Given the description of an element on the screen output the (x, y) to click on. 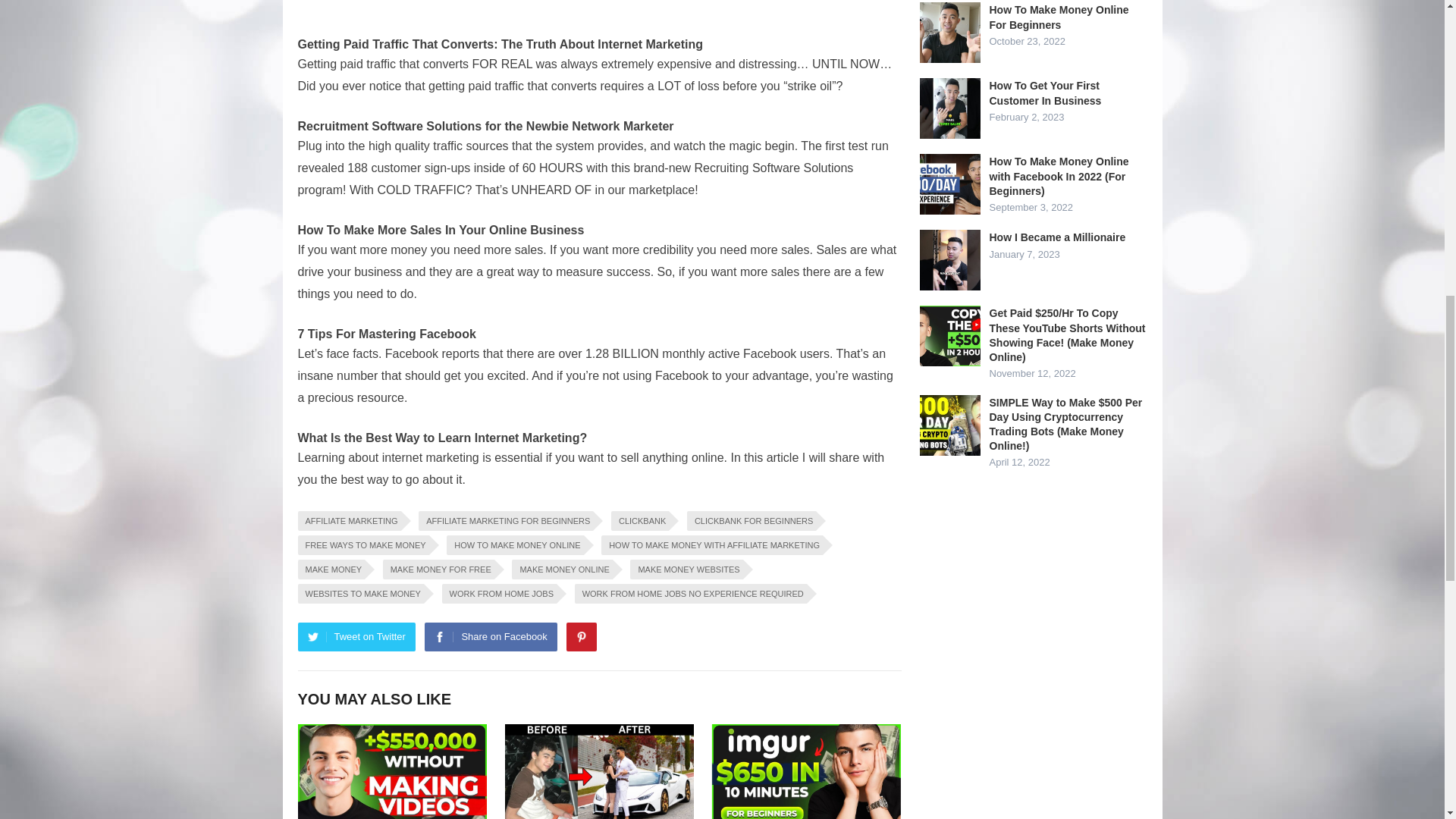
HOW TO MAKE MONEY ONLINE (514, 545)
MAKE MONEY FOR FREE (438, 569)
WEBSITES TO MAKE MONEY (360, 593)
MAKE MONEY (331, 569)
AFFILIATE MARKETING FOR BEGINNERS (505, 520)
CLICKBANK (639, 520)
MAKE MONEY ONLINE (561, 569)
AFFILIATE MARKETING (348, 520)
How To Make Money Online For Beginners 17 (948, 32)
